Given the description of an element on the screen output the (x, y) to click on. 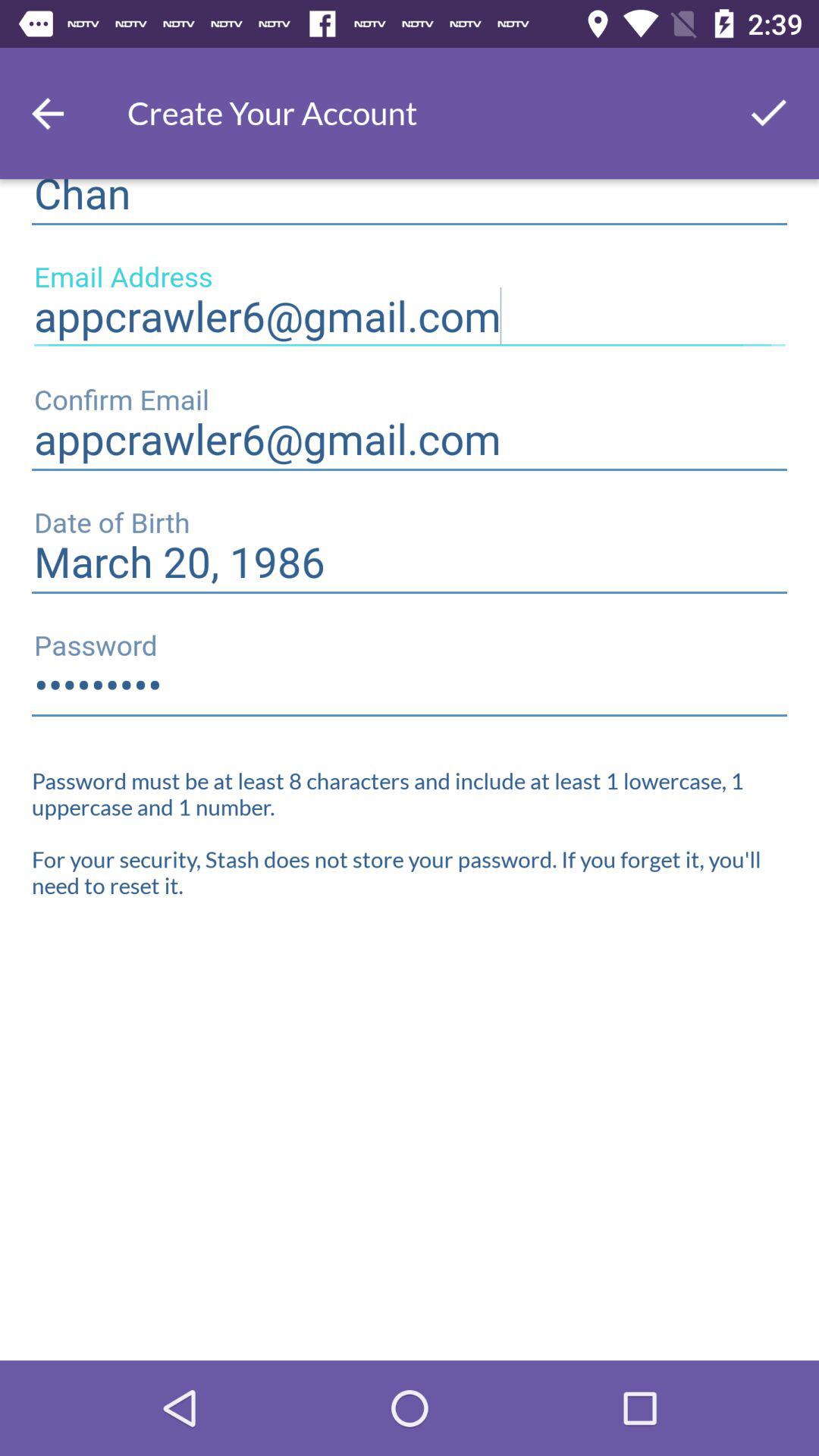
accept (769, 113)
